Given the description of an element on the screen output the (x, y) to click on. 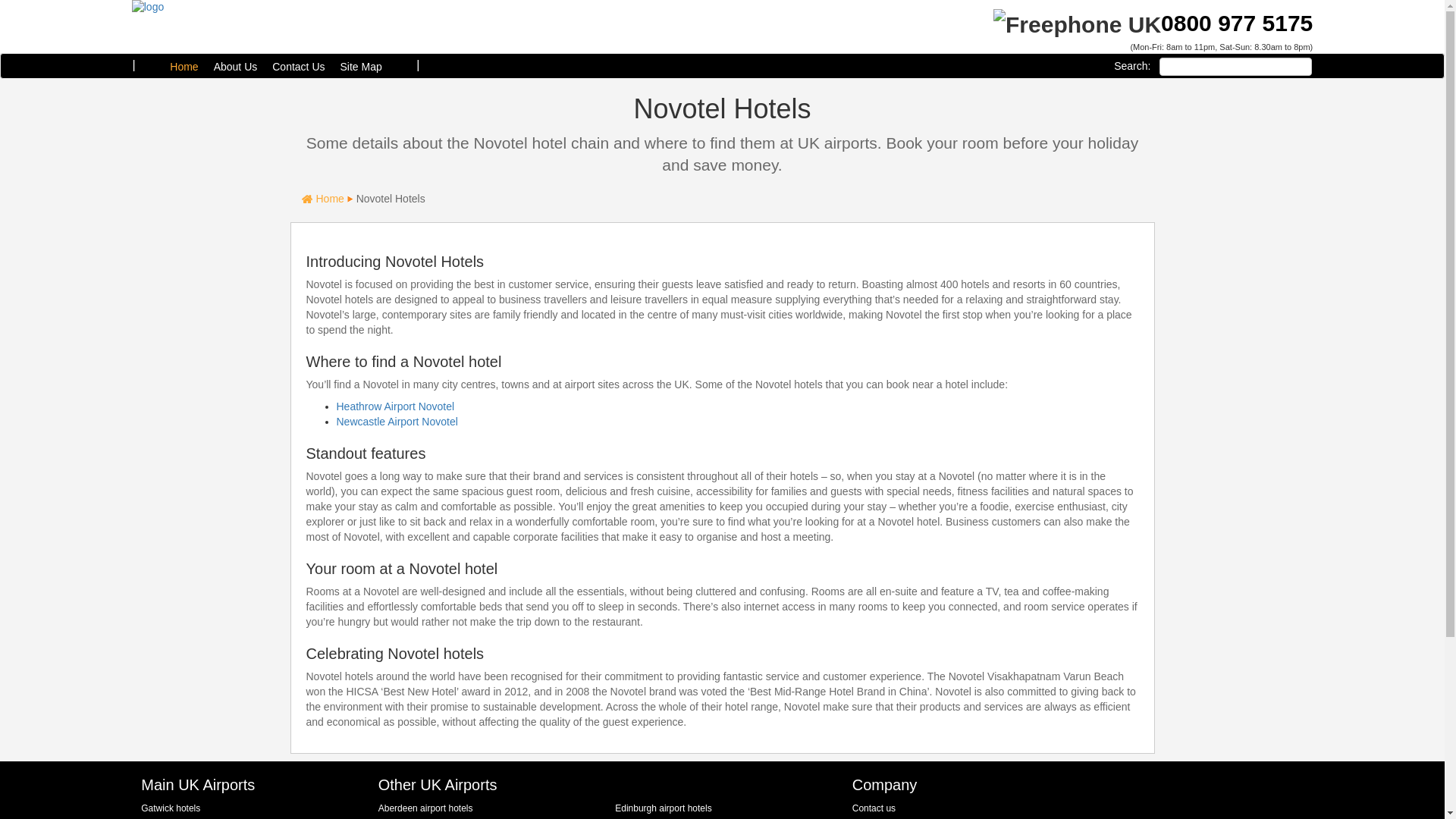
Aberdeen hotels (425, 808)
Novotel Newcastle Airport (397, 421)
Contact us (873, 808)
Novotel Heathrow Airport (395, 406)
Heathrow Airport Novotel (395, 406)
Home (183, 66)
About us (235, 66)
airporthotels.com (147, 6)
